Given the description of an element on the screen output the (x, y) to click on. 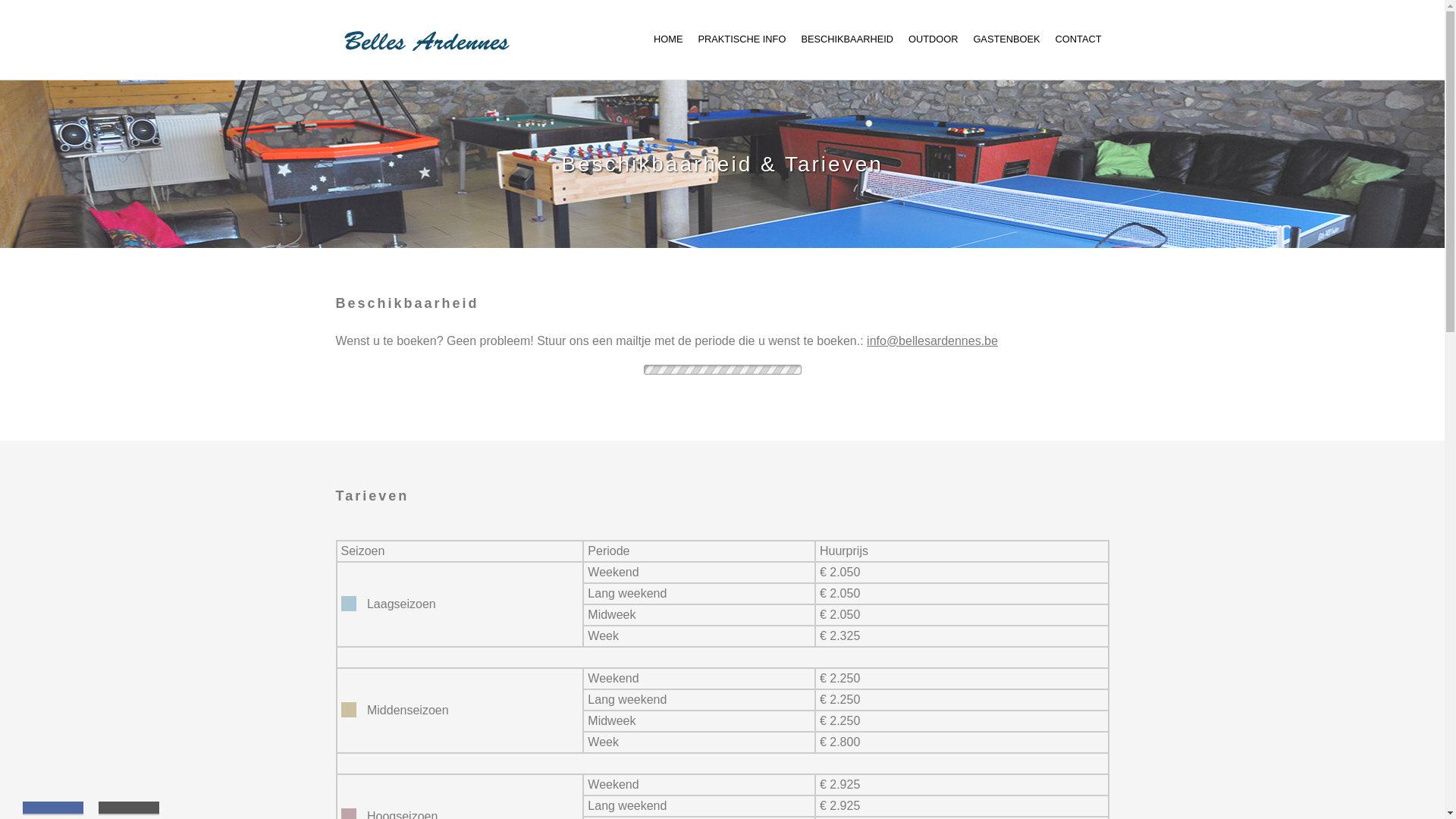
OUTDOOR Element type: text (932, 39)
HOME Element type: text (667, 39)
BESCHIKBAARHEID Element type: text (846, 39)
PRAKTISCHE INFO Element type: text (741, 39)
CONTACT Element type: text (1078, 39)
GASTENBOEK Element type: text (1005, 39)
info@bellesardennes.be Element type: text (931, 340)
